Given the description of an element on the screen output the (x, y) to click on. 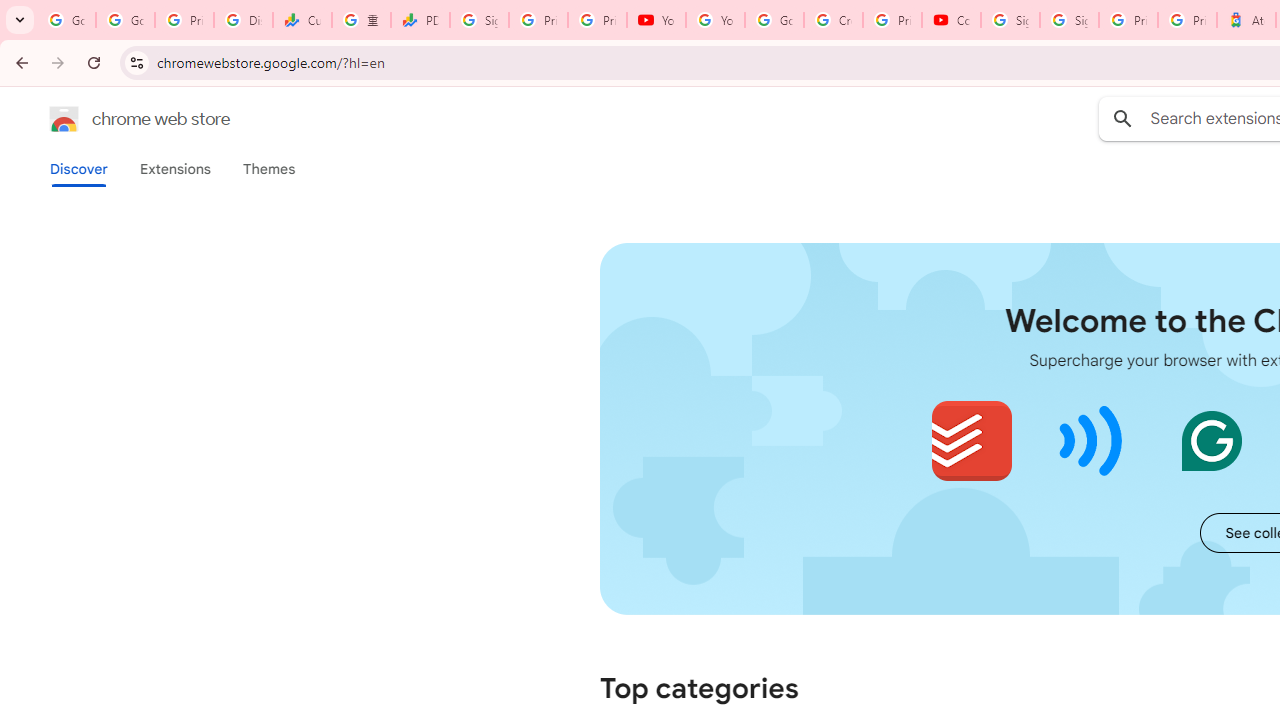
YouTube (656, 20)
Currencies - Google Finance (301, 20)
Google Workspace Admin Community (66, 20)
Google Account Help (774, 20)
PDD Holdings Inc - ADR (PDD) Price & News - Google Finance (420, 20)
Chrome Web Store logo (63, 118)
Extensions (174, 169)
Sign in - Google Accounts (479, 20)
Themes (269, 169)
Privacy Checkup (597, 20)
